Given the description of an element on the screen output the (x, y) to click on. 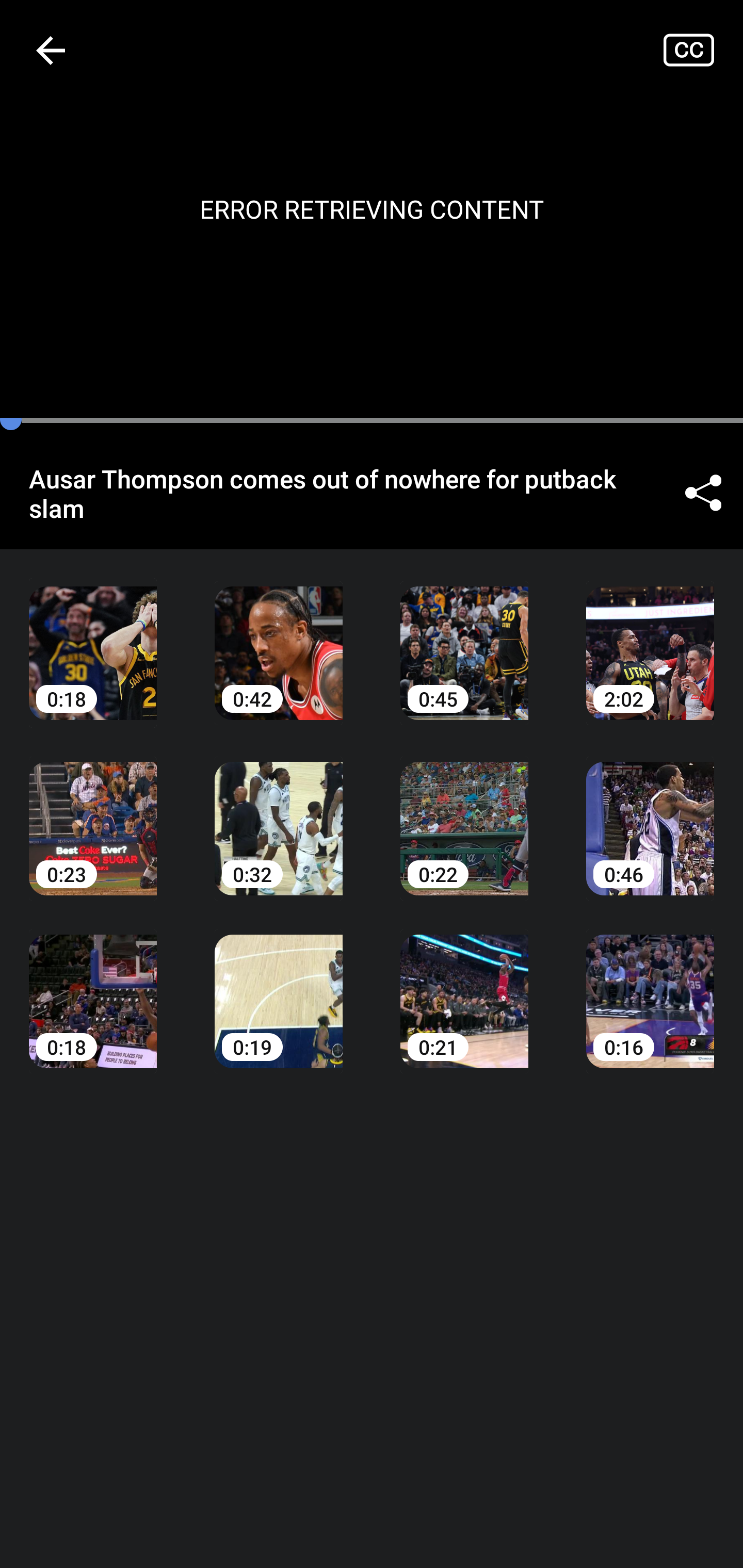
Navigate up (50, 50)
Closed captions  (703, 49)
Share © (703, 493)
0:18 (92, 637)
0:42 (278, 637)
0:45 (464, 637)
2:02 (650, 637)
0:23 (92, 813)
0:32 (278, 813)
0:22 (464, 813)
0:46 (650, 813)
0:18 (92, 987)
0:19 (278, 987)
0:21 (464, 987)
0:16 (650, 987)
